Given the description of an element on the screen output the (x, y) to click on. 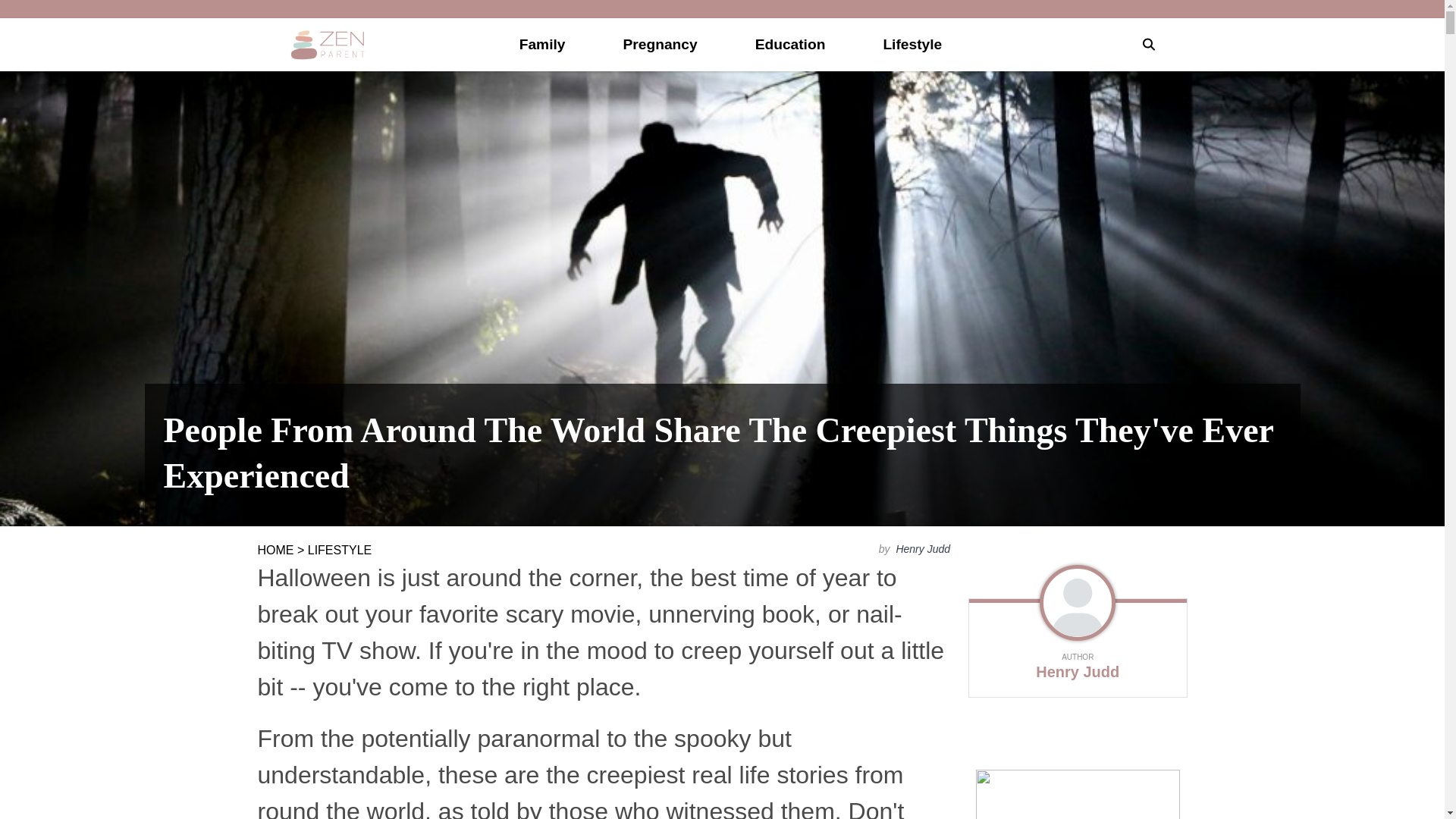
LIFESTYLE (339, 549)
Henry Judd (921, 548)
HOME (275, 549)
